Given the description of an element on the screen output the (x, y) to click on. 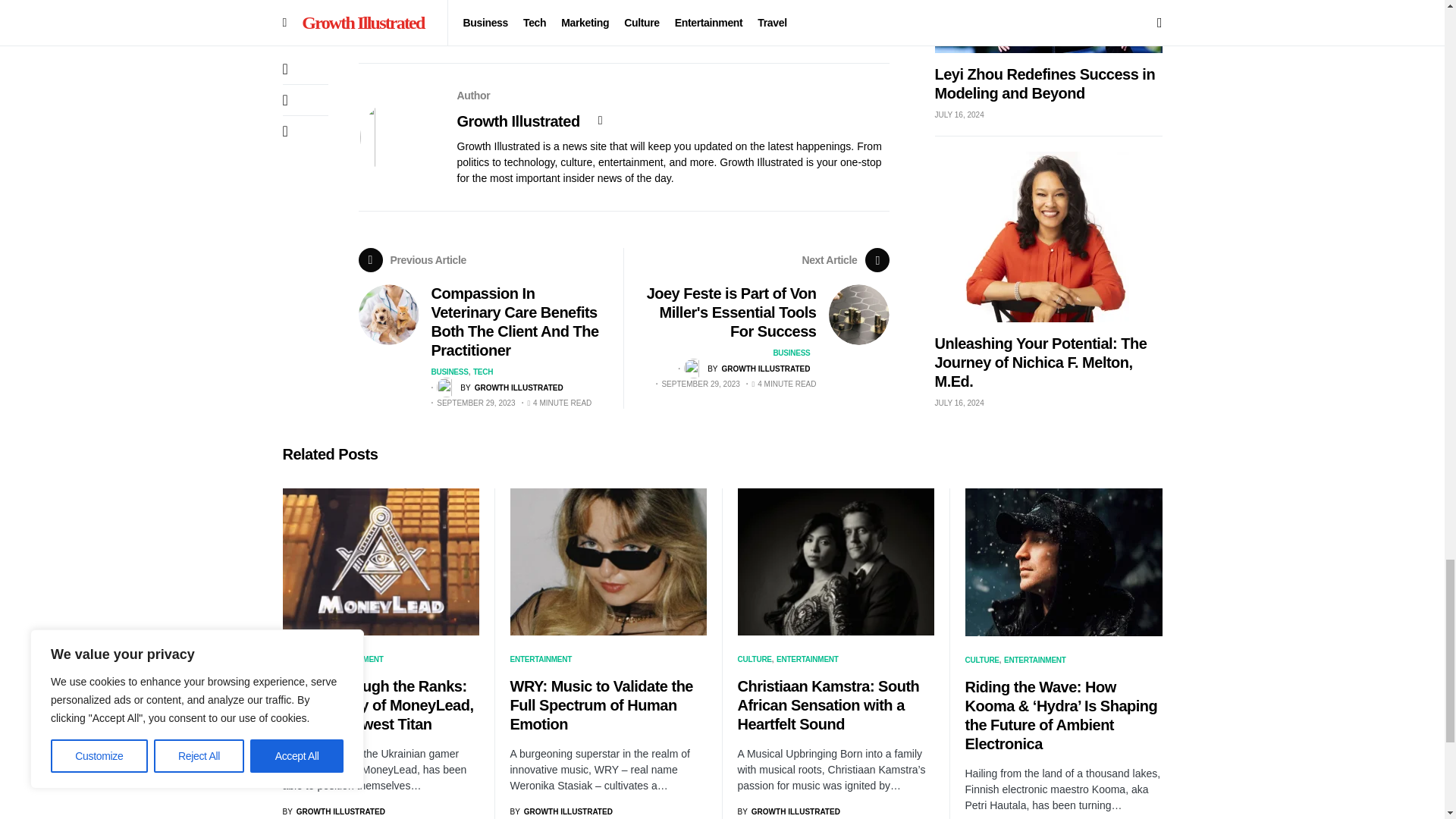
View all posts by Growth Illustrated (333, 811)
View all posts by Growth Illustrated (499, 387)
View all posts by Growth Illustrated (788, 811)
View all posts by Growth Illustrated (560, 811)
View all posts by Growth Illustrated (746, 368)
